Given the description of an element on the screen output the (x, y) to click on. 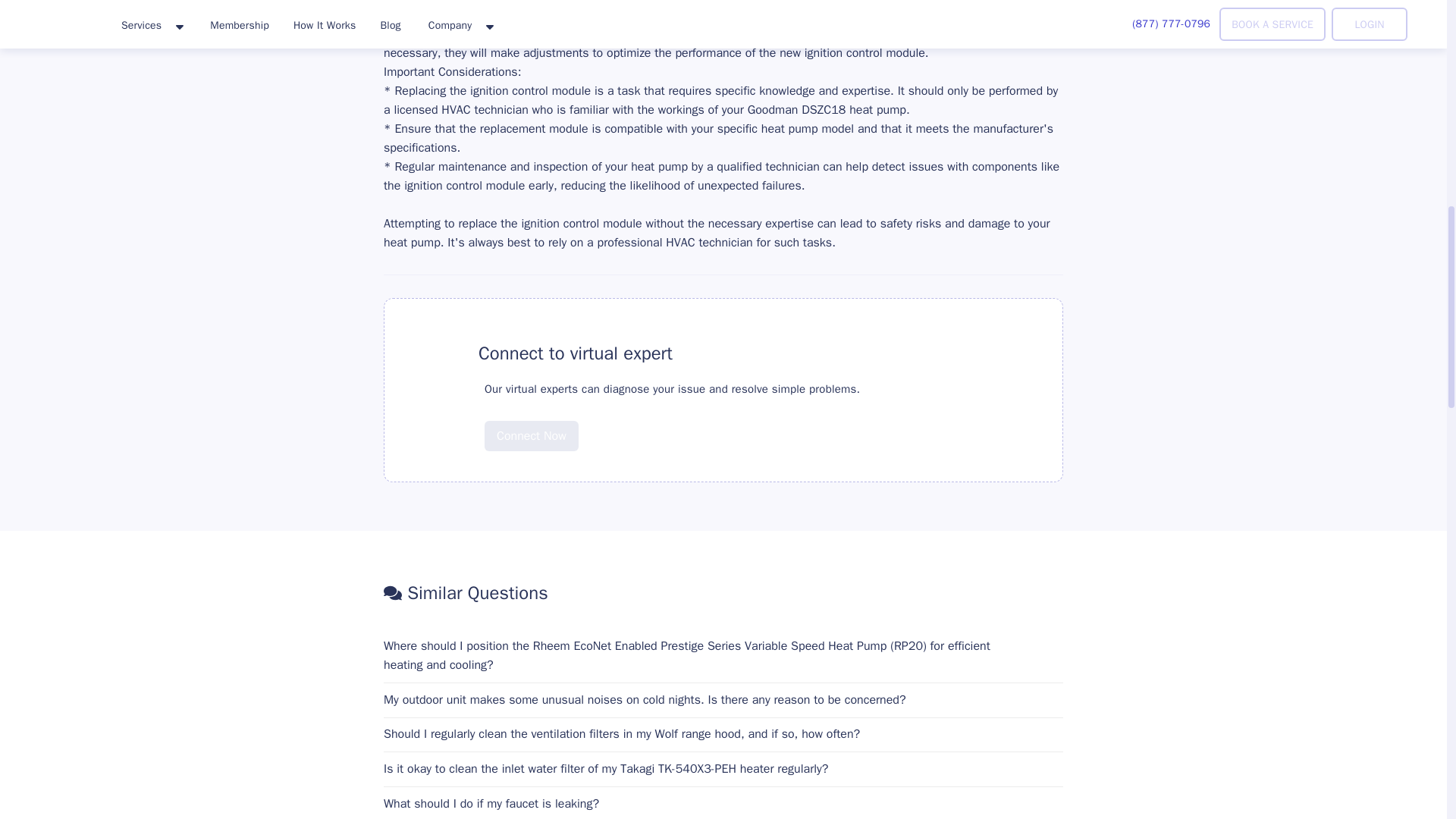
Connect Now (531, 424)
Connect Now (531, 435)
What should I do if my faucet is leaking? (723, 804)
FAQ (438, 353)
